Given the description of an element on the screen output the (x, y) to click on. 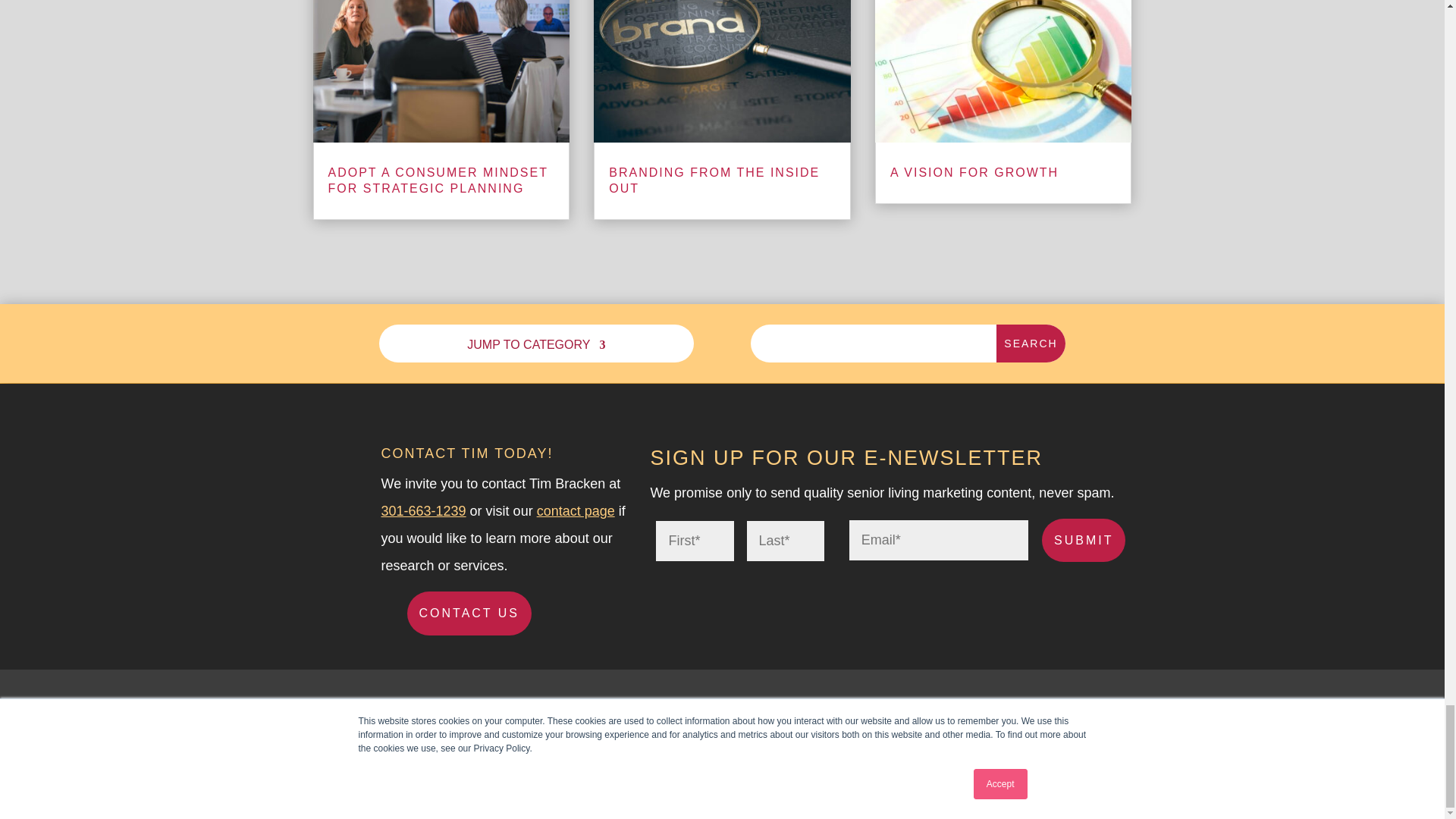
Follow on Facebook (1007, 712)
Follow on X (1038, 712)
Search (1029, 343)
Follow on LinkedIn (1069, 712)
Search (1029, 343)
